Given the description of an element on the screen output the (x, y) to click on. 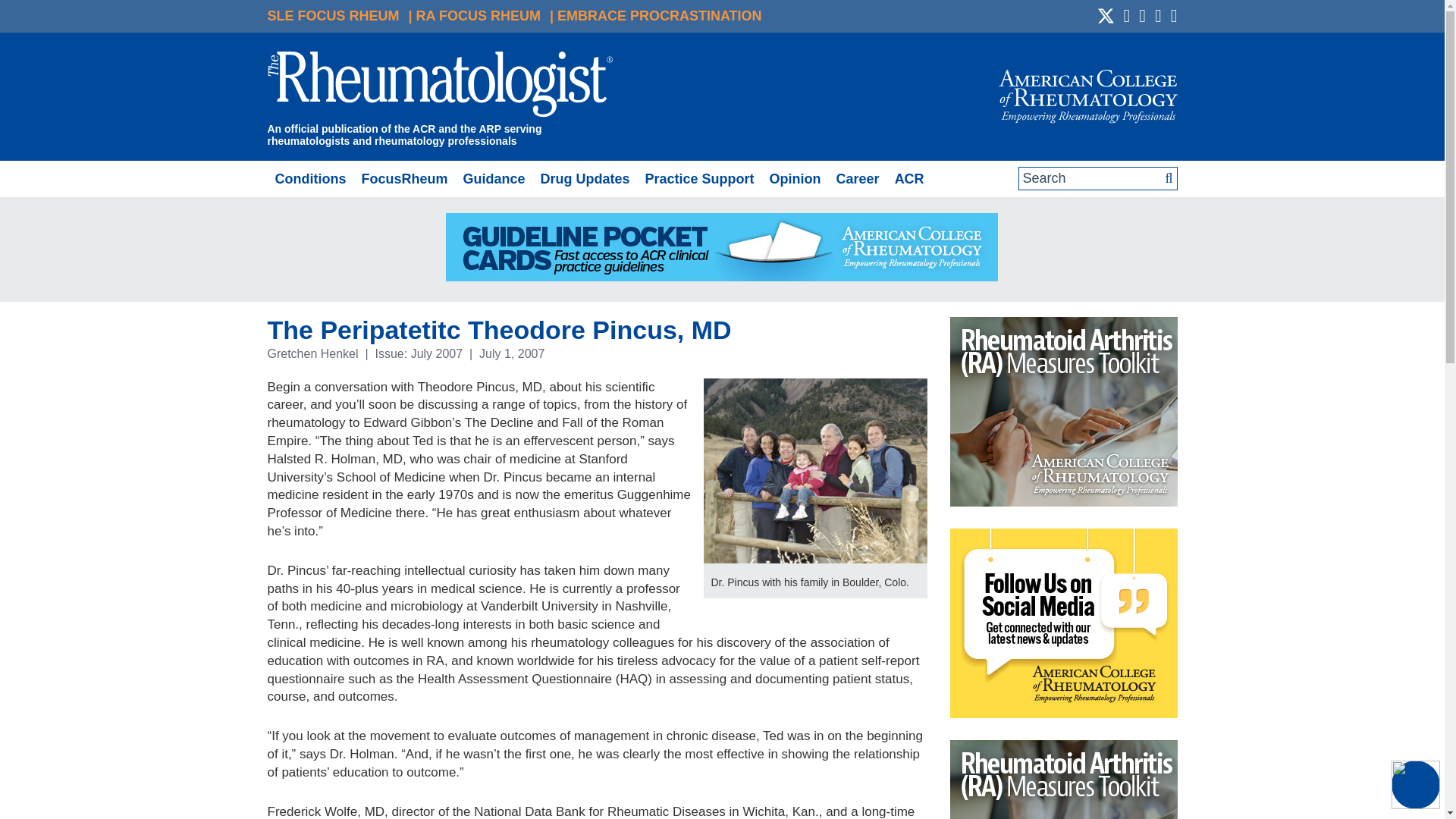
Conditions (309, 178)
Accessibility Menu (1415, 784)
The Rheumatologist (439, 86)
Guidance (493, 178)
FocusRheum (403, 178)
SLE FOCUS RHEUM (332, 15)
